Given the description of an element on the screen output the (x, y) to click on. 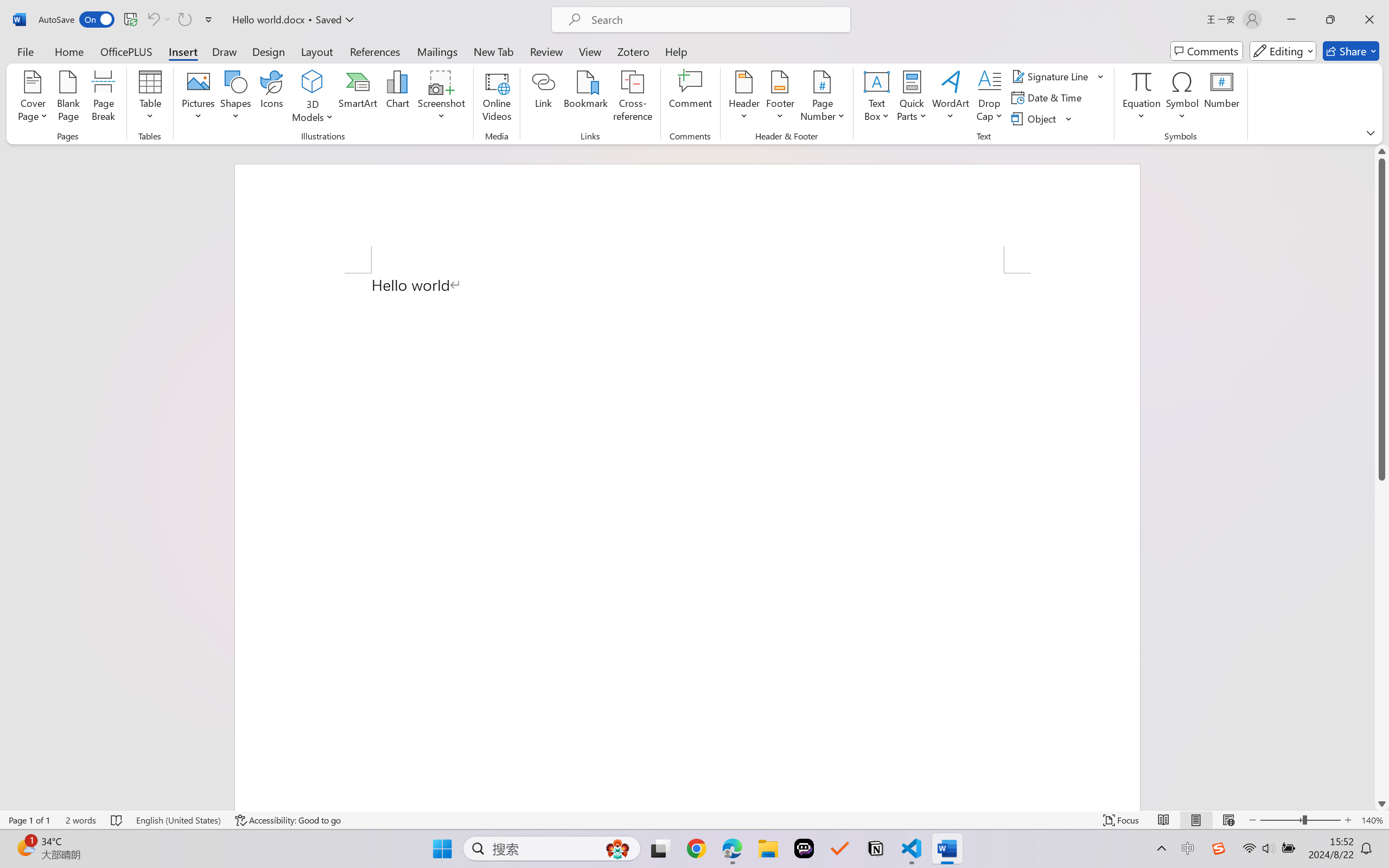
End Review (677, 62)
Translate (167, 62)
New comment (1219, 131)
Check Accessibility (91, 62)
